Given the description of an element on the screen output the (x, y) to click on. 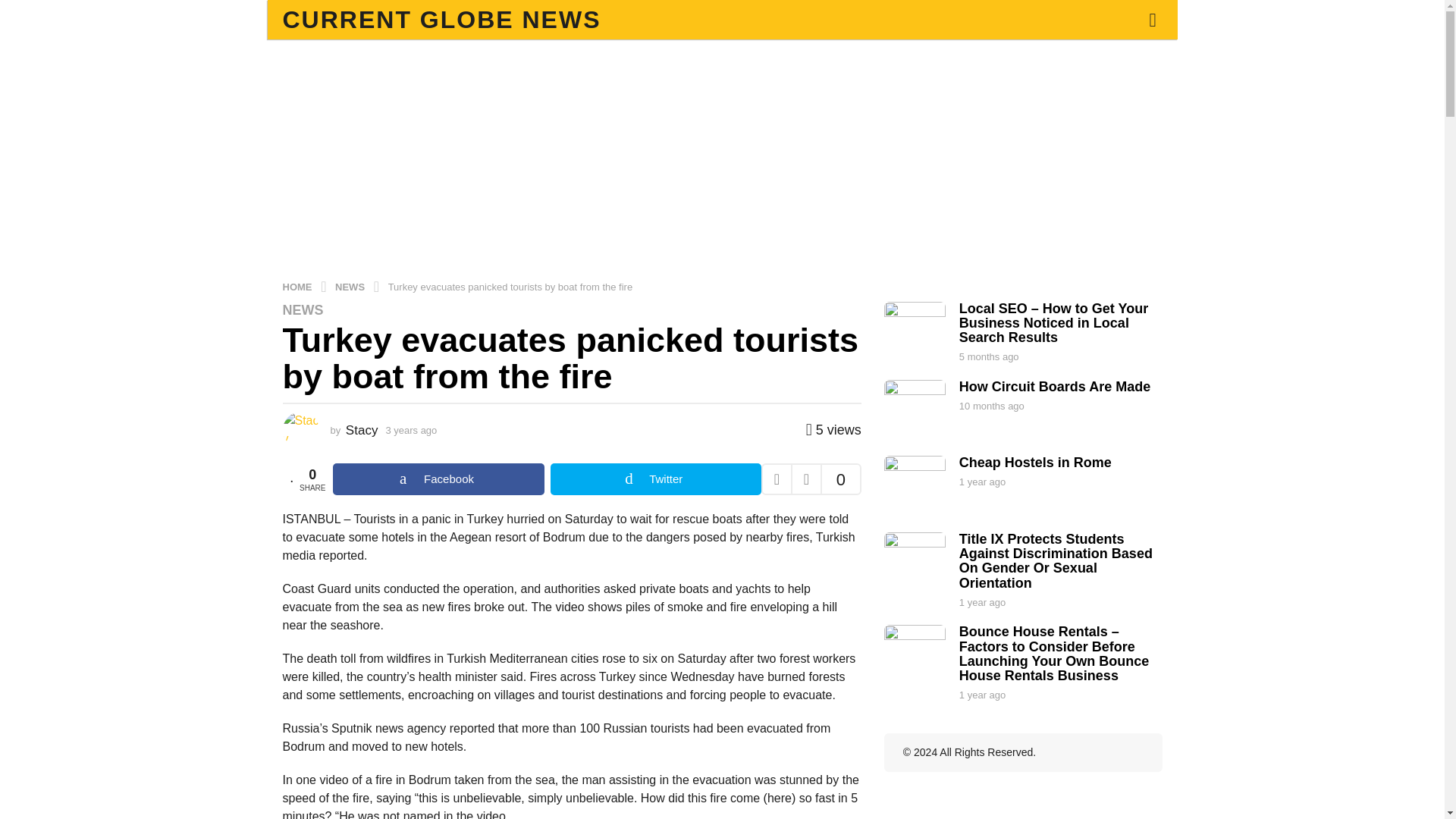
Facebook (438, 479)
Share on Facebook (438, 479)
Stacy (362, 430)
HOME (298, 285)
NEWS (351, 285)
Twitter (655, 479)
Turkey evacuates panicked tourists by boat from the fire (510, 285)
NEWS (302, 309)
Share on Twitter (655, 479)
CURRENT GLOBE NEWS (440, 19)
